Given the description of an element on the screen output the (x, y) to click on. 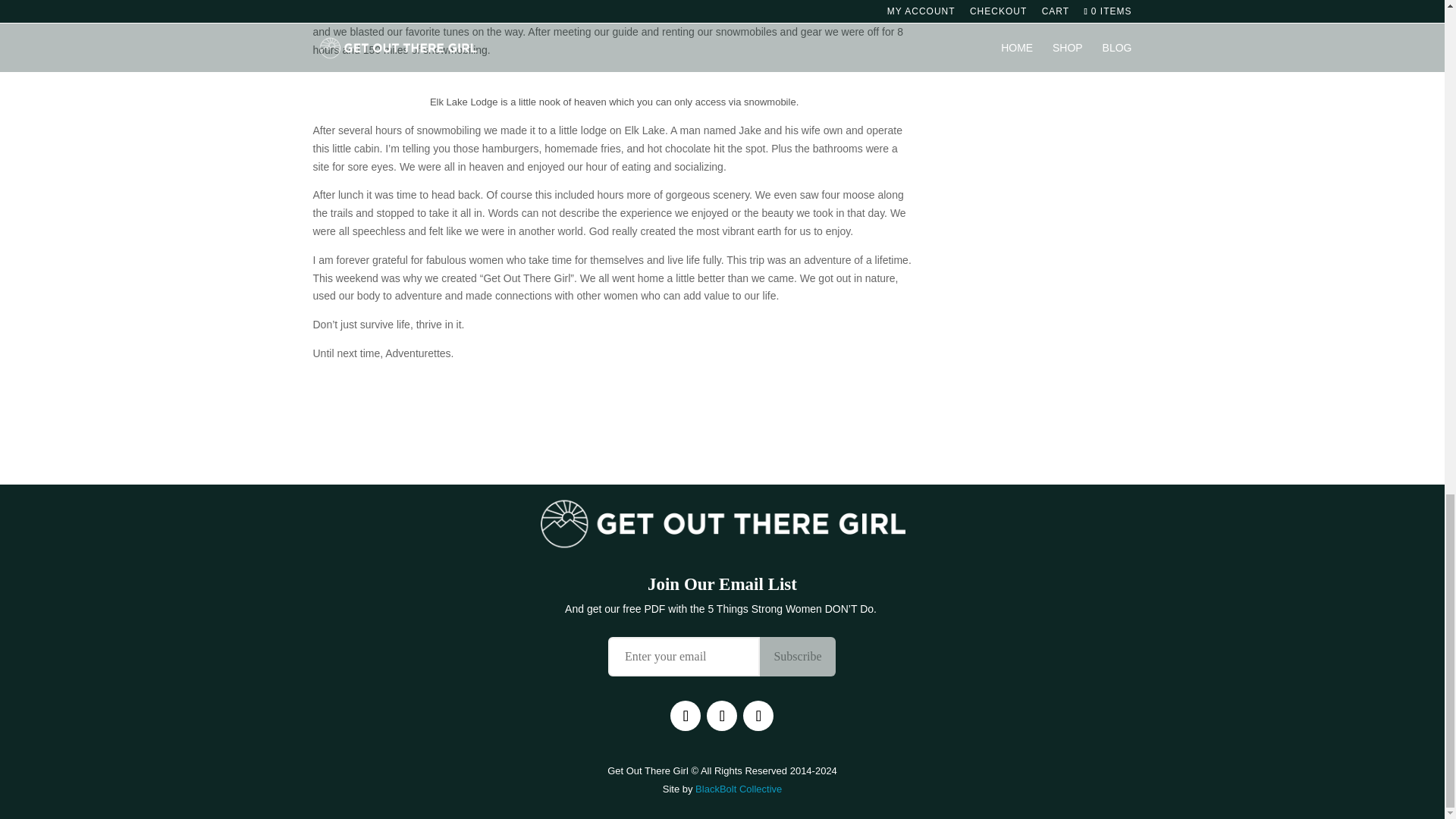
Follow on Instagram (721, 716)
Follow on Youtube (757, 716)
GOTG Logo White Long (721, 523)
BlackBolt Collective (738, 788)
Follow on Facebook (684, 716)
